Given the description of an element on the screen output the (x, y) to click on. 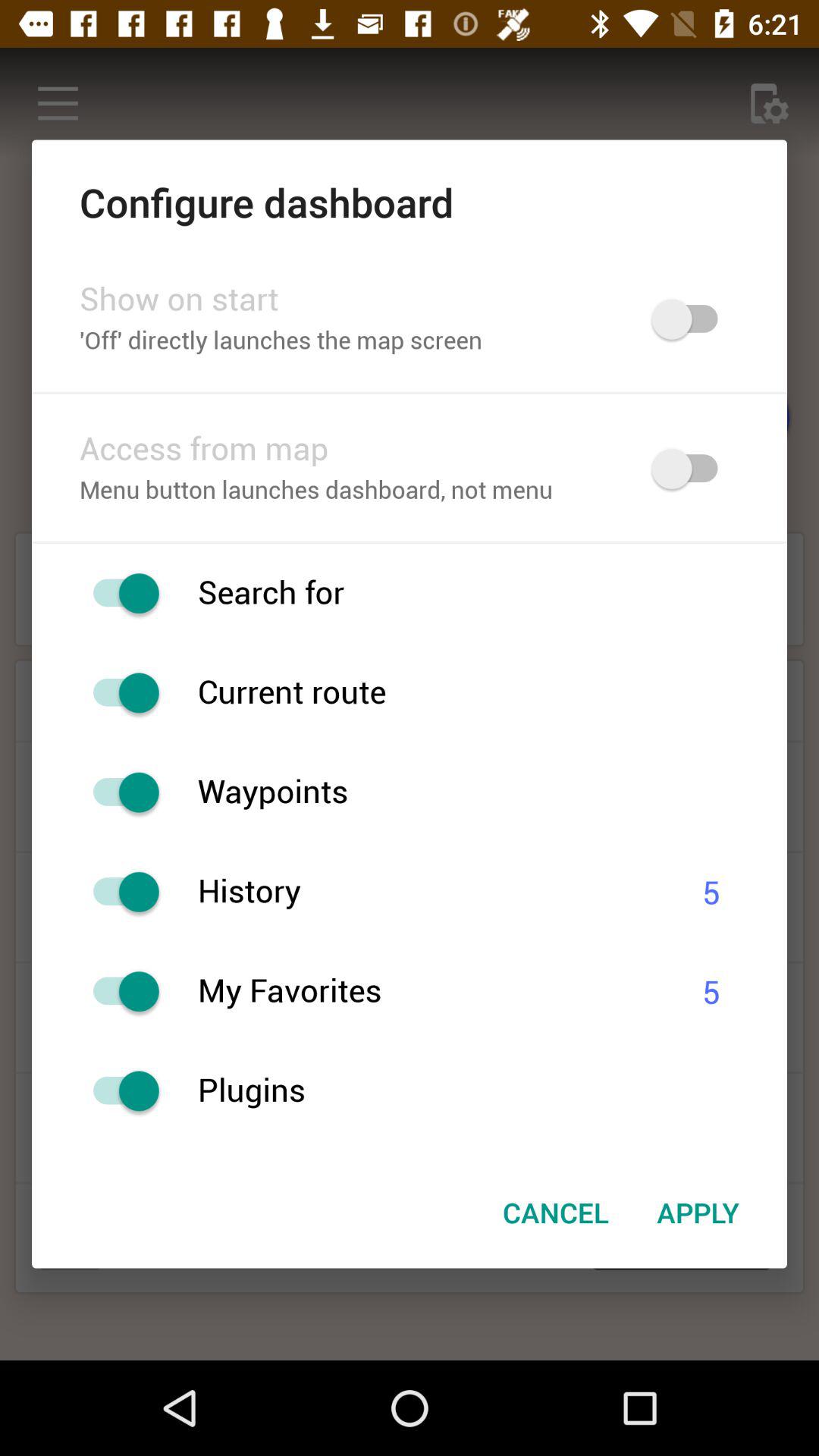
click the icon to the left of 5 (430, 991)
